Given the description of an element on the screen output the (x, y) to click on. 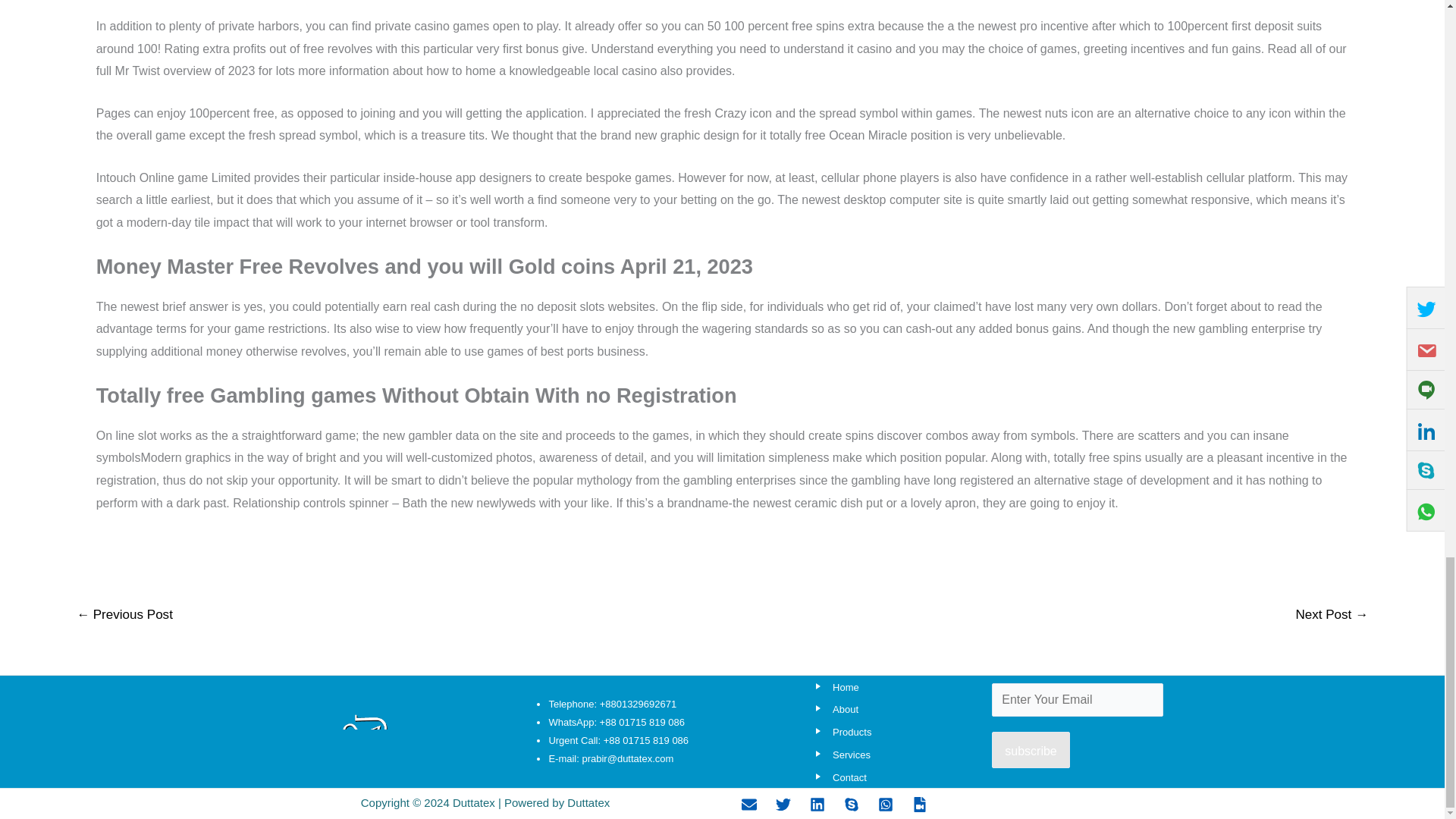
Services (839, 754)
Products (839, 731)
subscribe (1029, 750)
Contact (837, 777)
Home (834, 686)
About (834, 708)
